Given the description of an element on the screen output the (x, y) to click on. 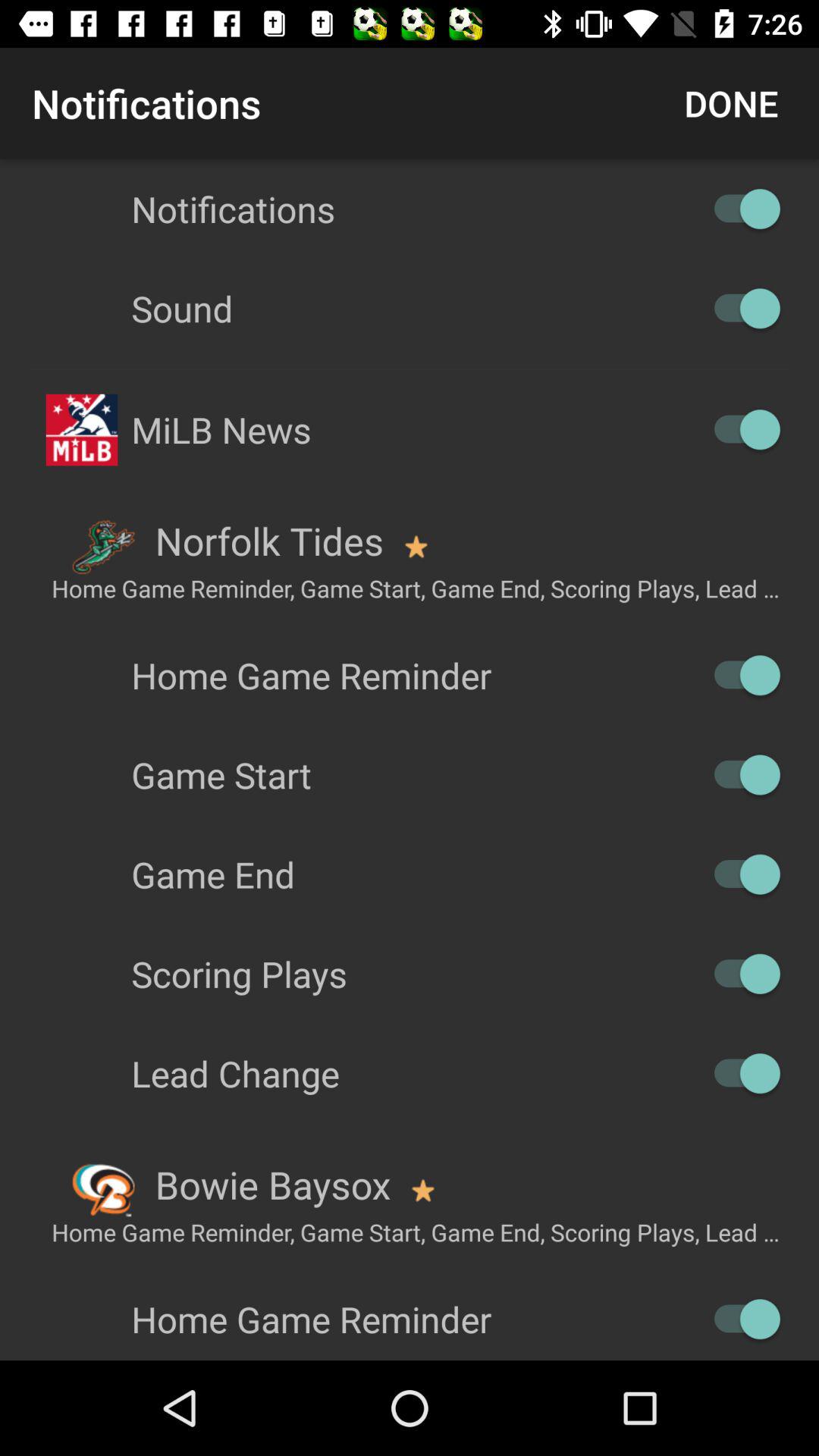
toggle reminder for lead changes (739, 1073)
